Given the description of an element on the screen output the (x, y) to click on. 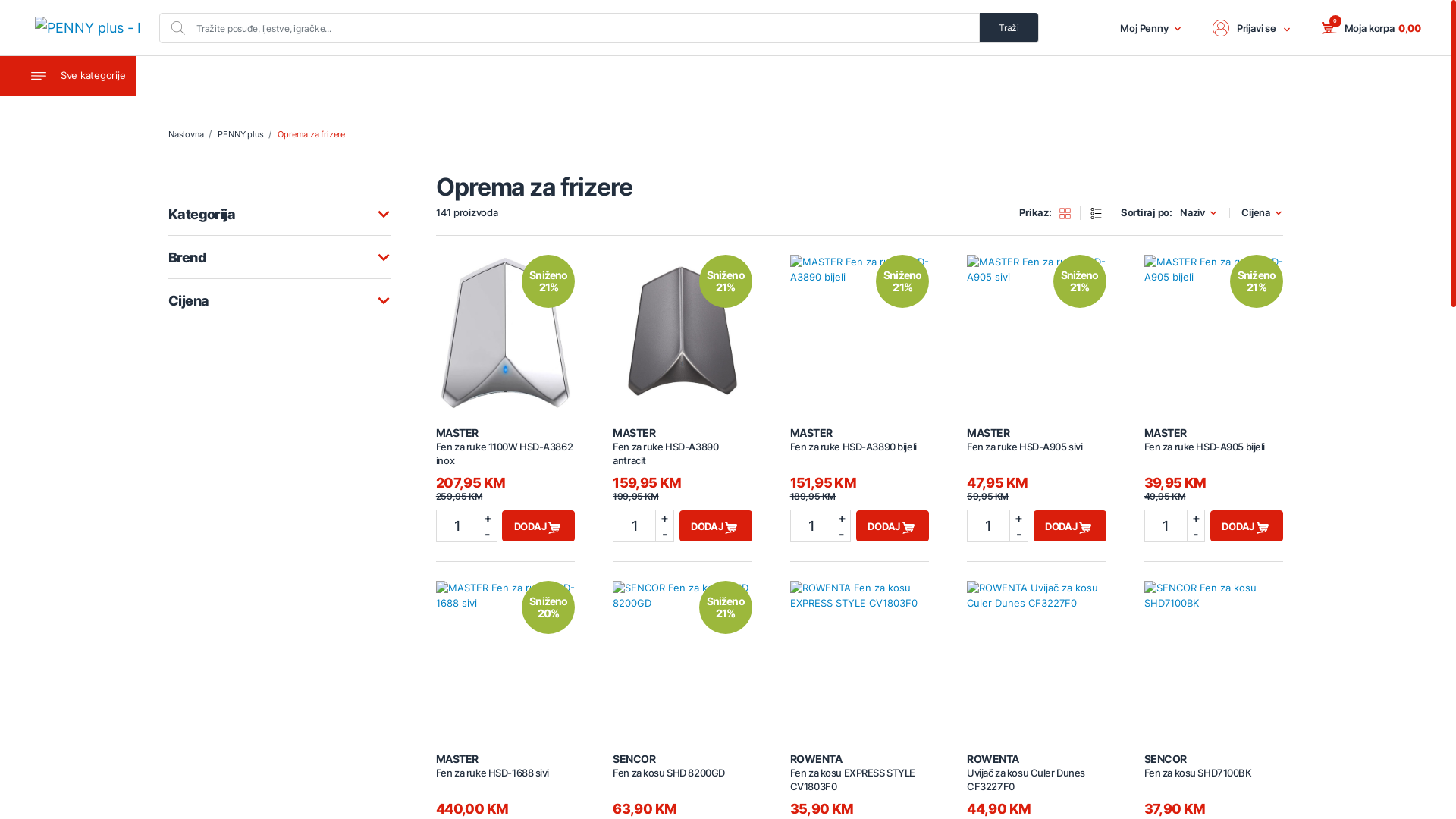
MASTER
Fen za ruke HSD-A905 bijeli
39,95 KM
49,95 KM Element type: text (1213, 464)
Moja korpa
0
0,00 Element type: text (1371, 27)
Cijena Element type: text (1262, 212)
DODAJ Element type: text (1069, 525)
MASTER
Fen za ruke HSD-A3890 antracit
159,95 KM
199,95 KM Element type: text (681, 464)
SENCOR
Fen za kosu SHD7100BK
37,90 KM Element type: text (1213, 784)
Oprema za frizere Element type: text (311, 133)
DODAJ Element type: text (538, 525)
MASTER
Fen za ruke 1100W HSD-A3862 inox
207,95 KM
259,95 KM Element type: text (505, 464)
PENNY plus Element type: text (240, 133)
PENNY plus - PENNYshop.ba Element type: hover (87, 27)
MASTER
Fen za ruke HSD-A905 sivi
47,95 KM
59,95 KM Element type: text (1035, 464)
ROWENTA
Fen za kosu EXPRESS STYLE CV1803F0
35,90 KM Element type: text (859, 784)
DODAJ Element type: text (715, 525)
Naziv Element type: text (1198, 212)
Sve kategorije Element type: text (68, 75)
Naslovna Element type: text (188, 133)
Prijavi se Element type: text (1251, 27)
Moj Penny Element type: text (1150, 27)
DODAJ Element type: text (892, 525)
DODAJ Element type: text (1246, 525)
MASTER
Fen za ruke HSD-A3890 bijeli
151,95 KM
189,95 KM Element type: text (859, 464)
